Given the description of an element on the screen output the (x, y) to click on. 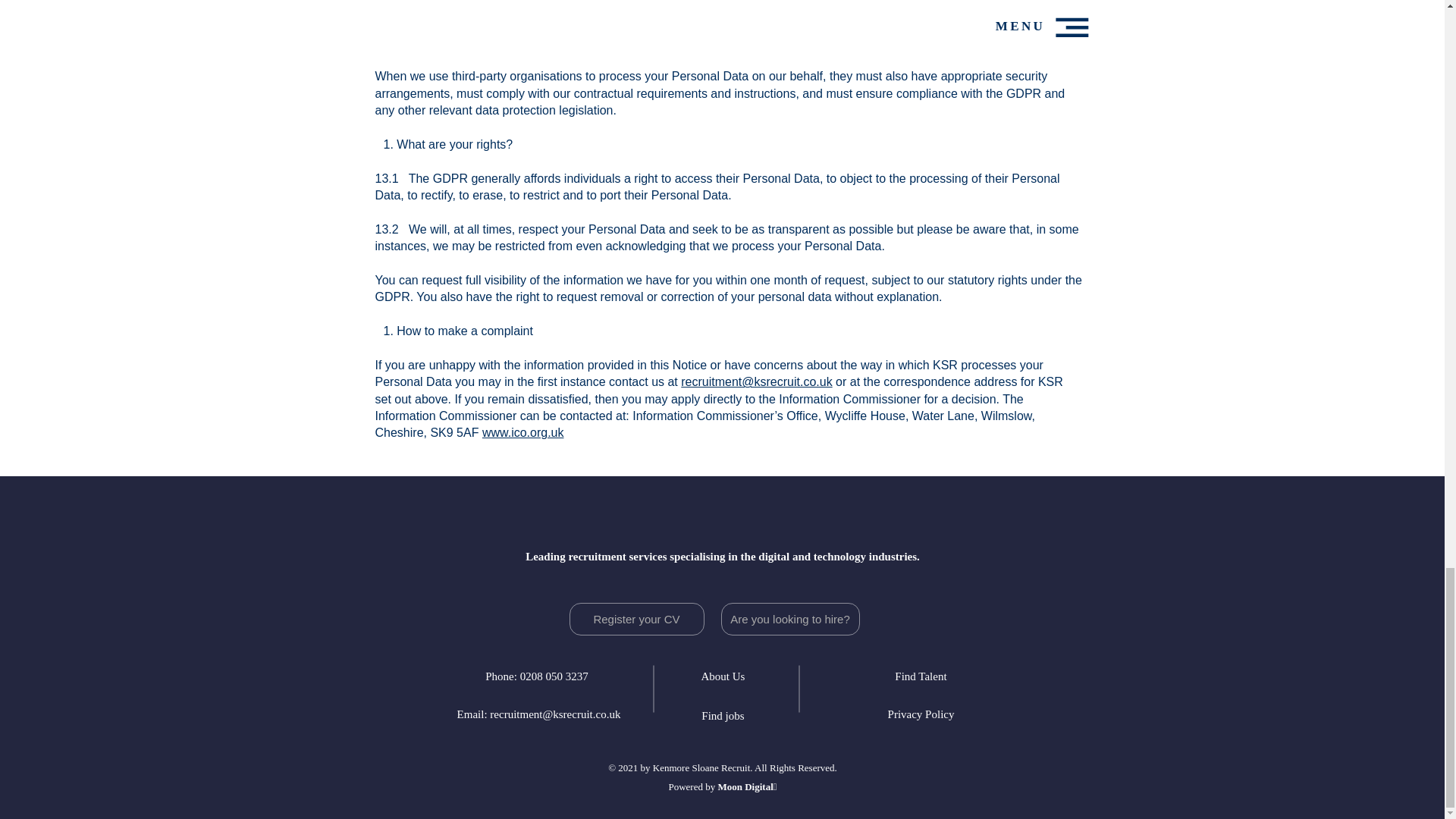
www.ico.org.uk (522, 431)
Register your CV (636, 618)
Are you looking to hire? (789, 618)
Privacy Policy (921, 714)
Find Talent (920, 676)
Phone: 0208 050 3237 (536, 676)
About Us (723, 676)
